Given the description of an element on the screen output the (x, y) to click on. 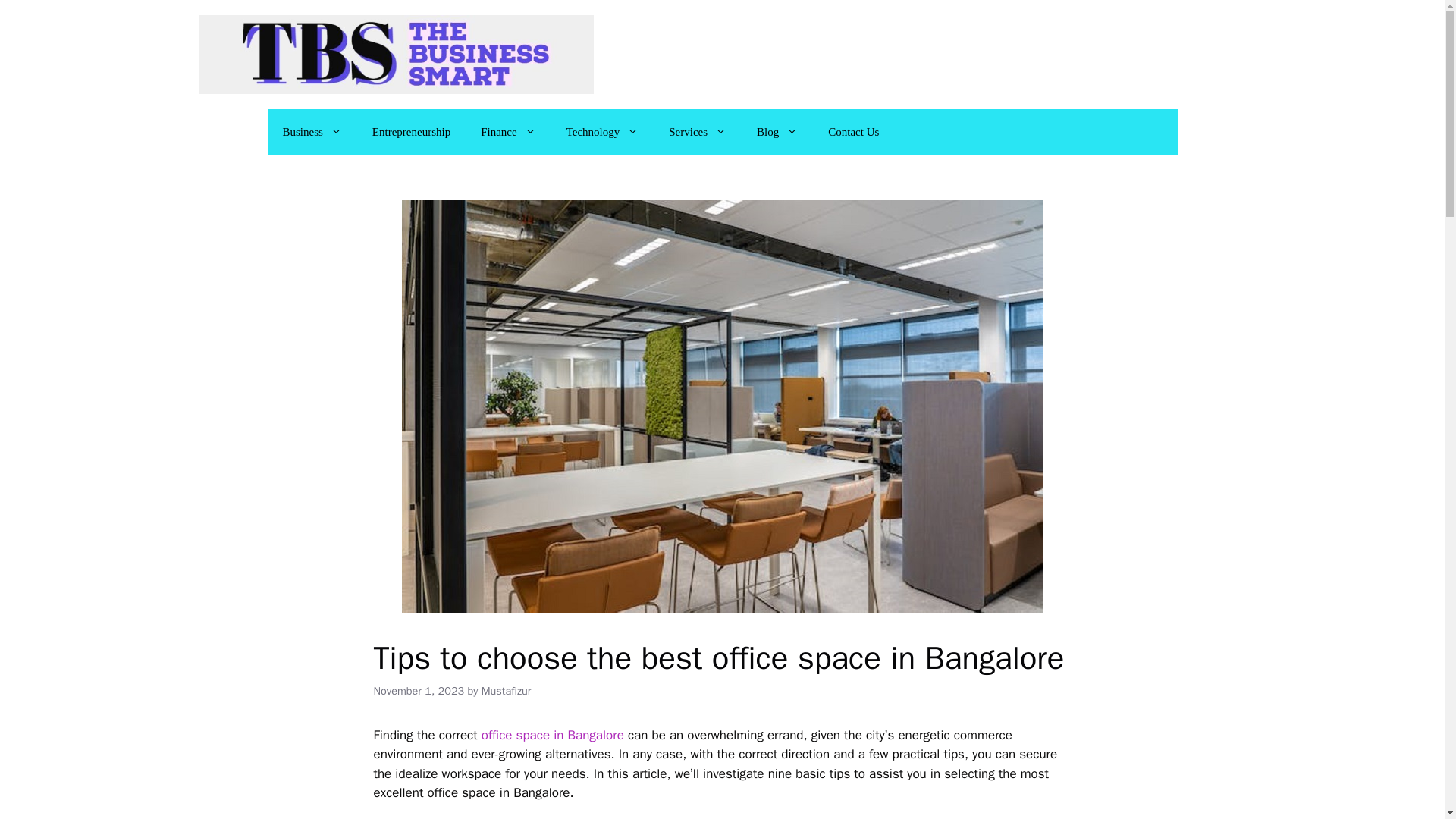
Technology (602, 131)
View all posts by Mustafizur (506, 690)
Entrepreneurship (410, 131)
Business (311, 131)
Finance (507, 131)
